Given the description of an element on the screen output the (x, y) to click on. 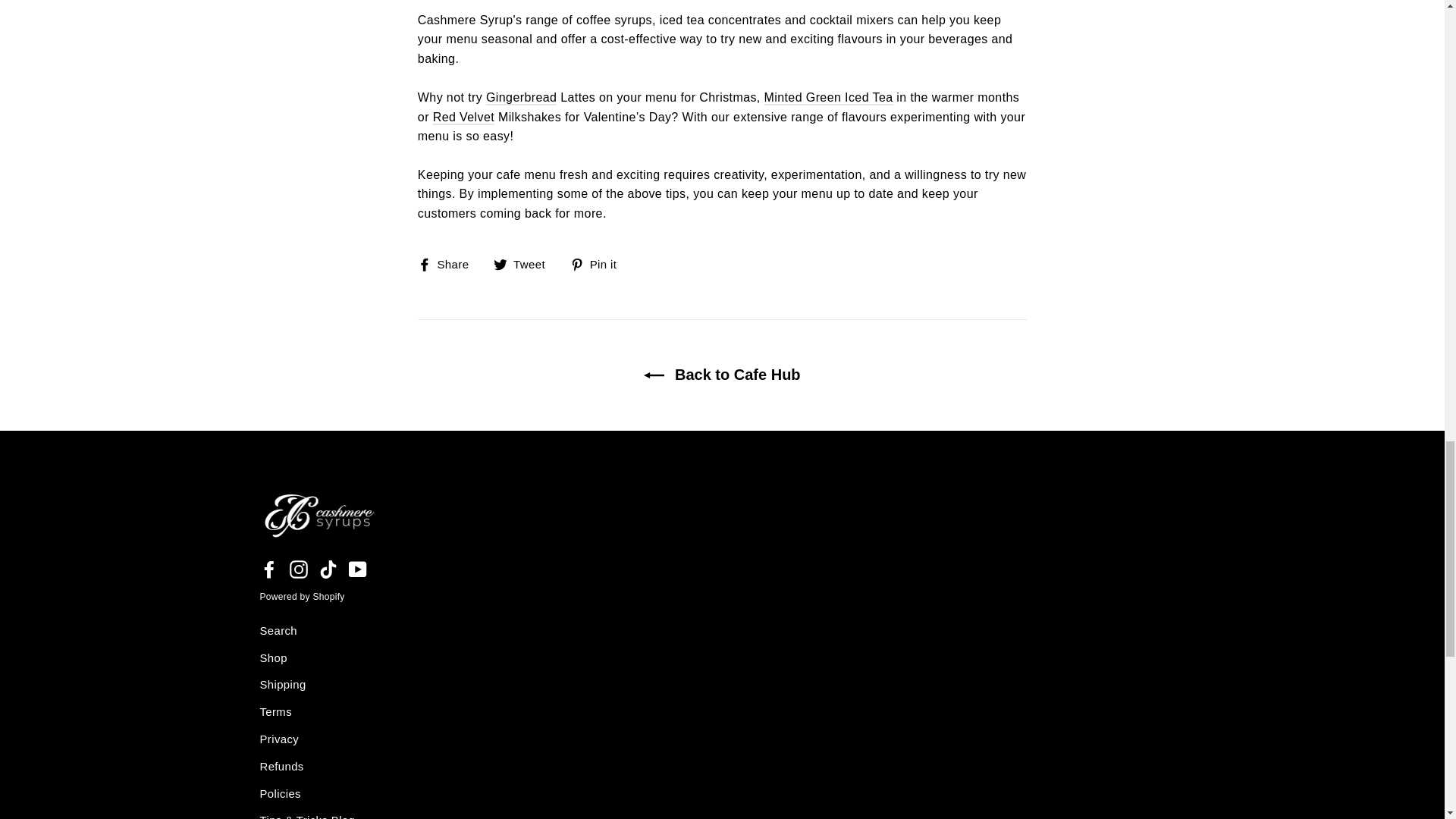
Tweet on Twitter (524, 263)
Pin on Pinterest (598, 263)
Cashmere Syrups on YouTube (357, 568)
Cashmere Syrups on TikTok (327, 568)
Cashmere Syrups on Facebook (268, 568)
Share on Facebook (448, 263)
Cashmere Syrups on Instagram (298, 568)
